Given the description of an element on the screen output the (x, y) to click on. 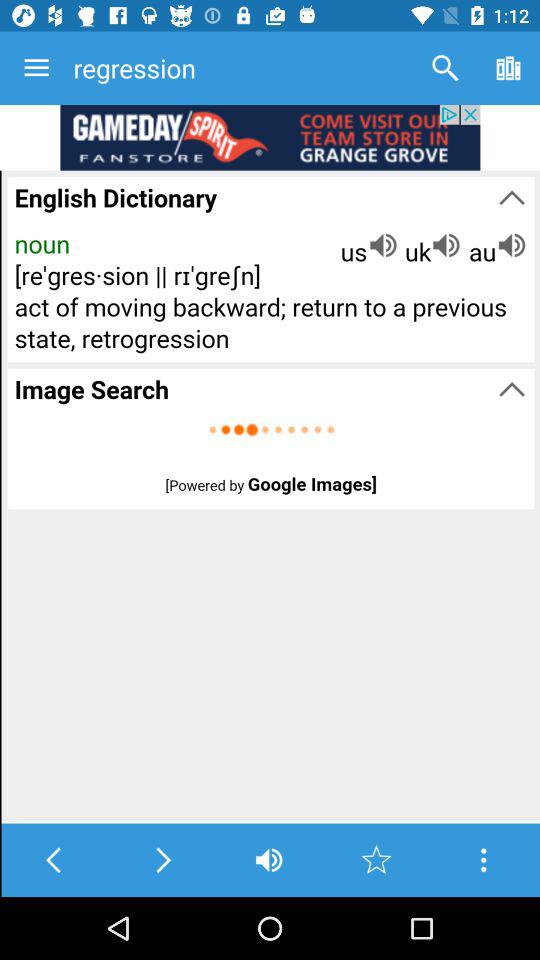
go forward (161, 859)
